Given the description of an element on the screen output the (x, y) to click on. 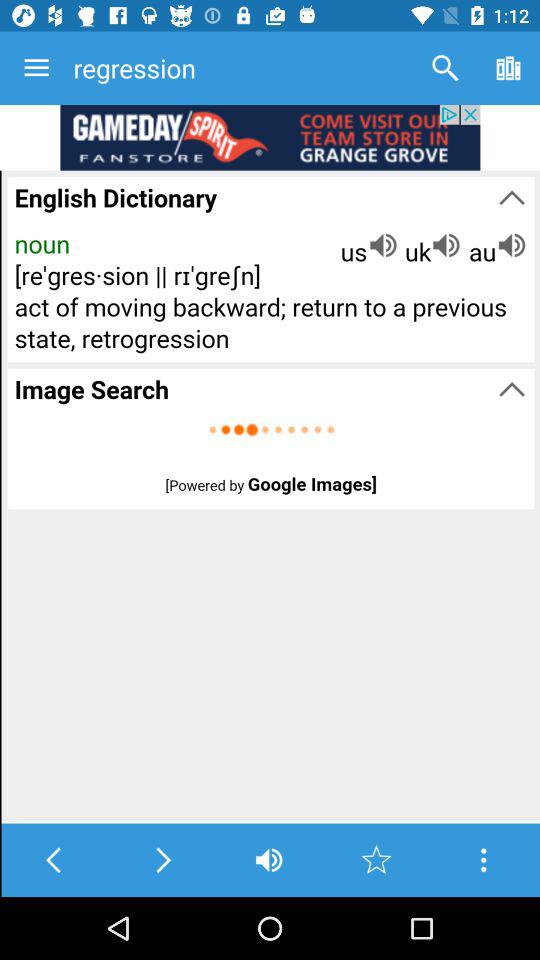
go forward (161, 859)
